Given the description of an element on the screen output the (x, y) to click on. 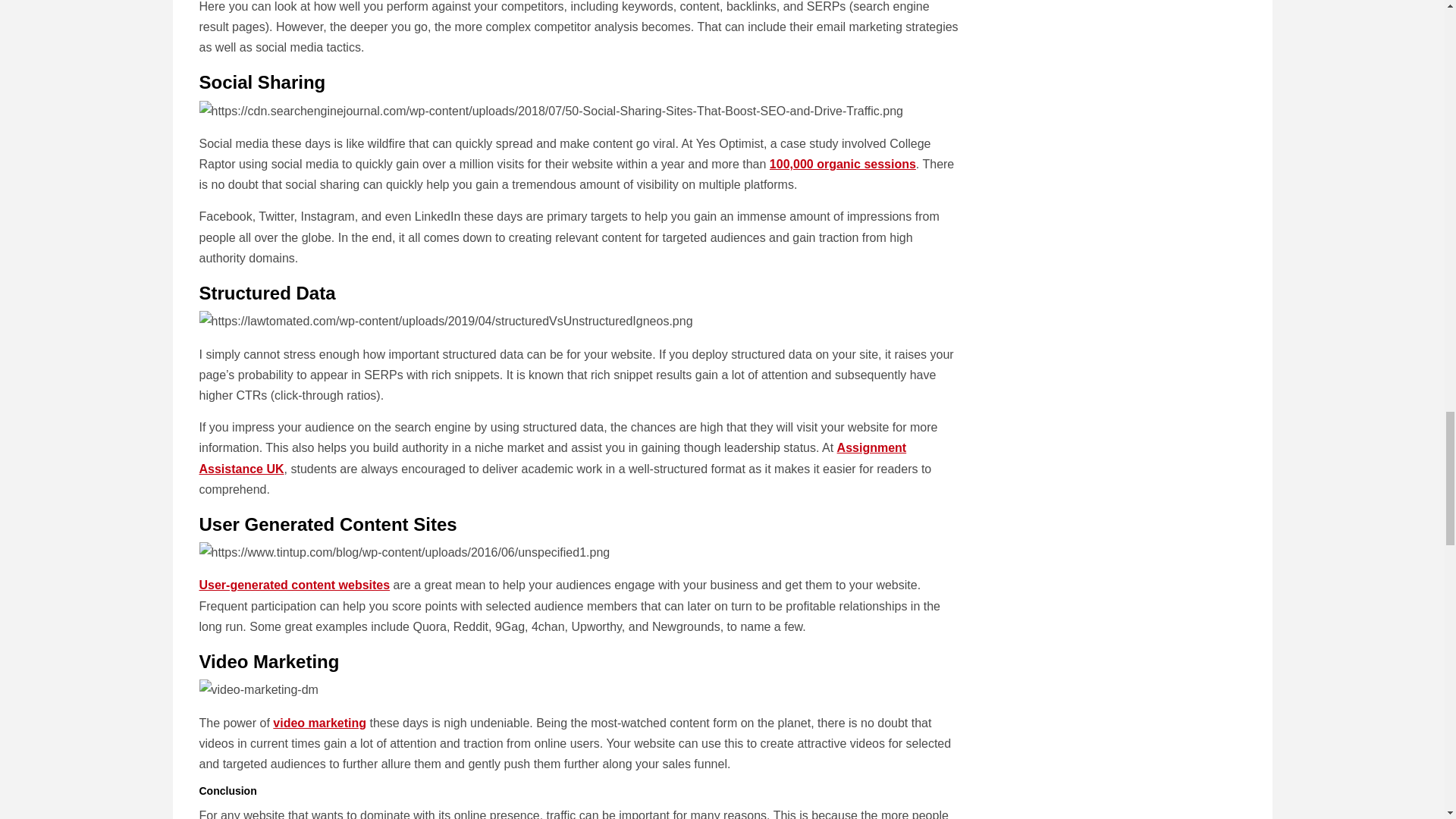
100,000 organic sessions (842, 164)
Assignment Assistance UK (551, 458)
video marketing (319, 722)
User-generated content websites (294, 584)
